Given the description of an element on the screen output the (x, y) to click on. 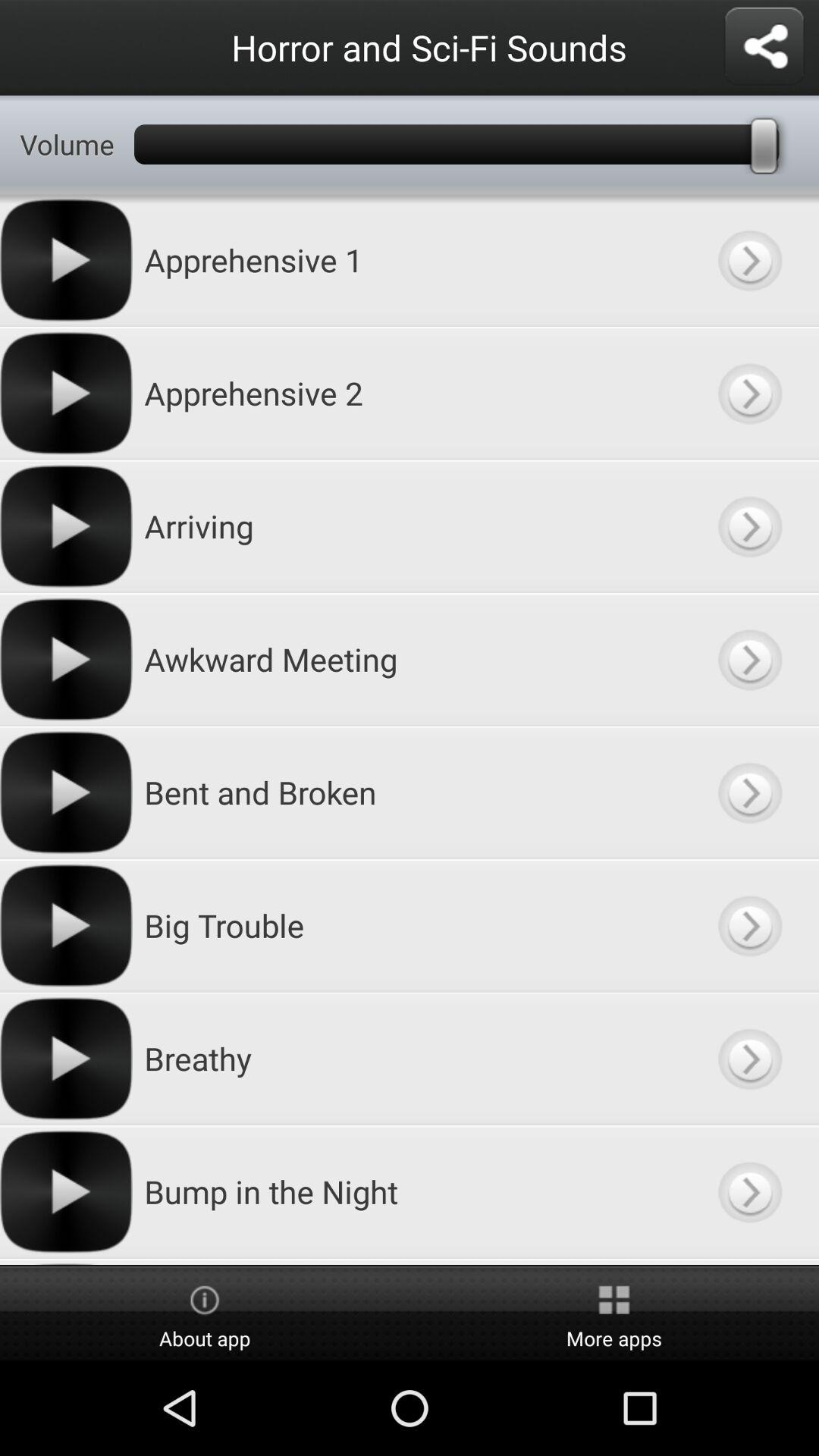
view category (749, 393)
